Given the description of an element on the screen output the (x, y) to click on. 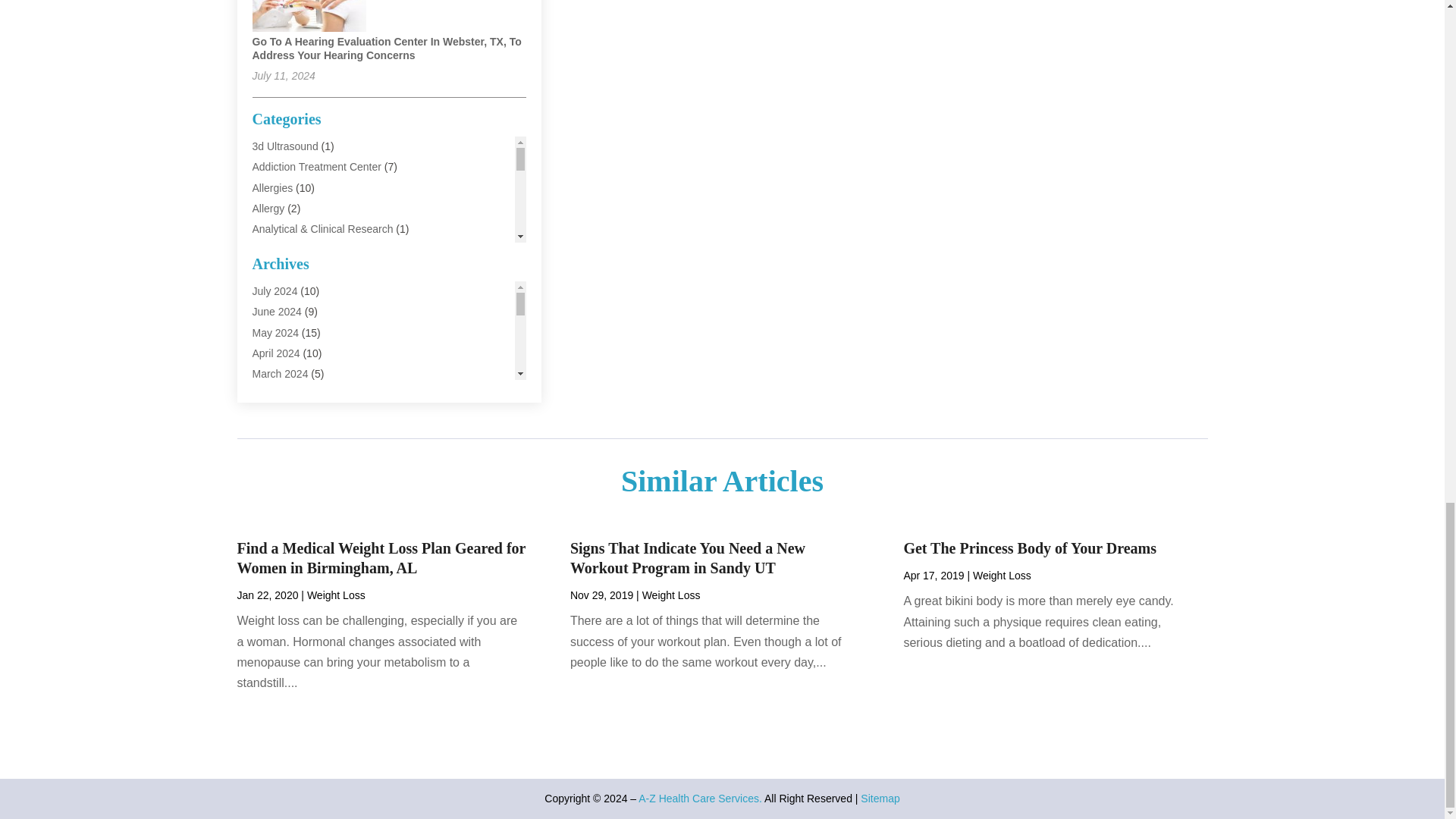
Allergies (271, 187)
Animal Hospital (287, 269)
3d Ultrasound (284, 146)
Assisted Living (286, 291)
Assisted Living Facility (304, 311)
Audiologist (277, 331)
Addiction Treatment Center (315, 166)
Allergy (267, 208)
Animal Health (284, 249)
